Given the description of an element on the screen output the (x, y) to click on. 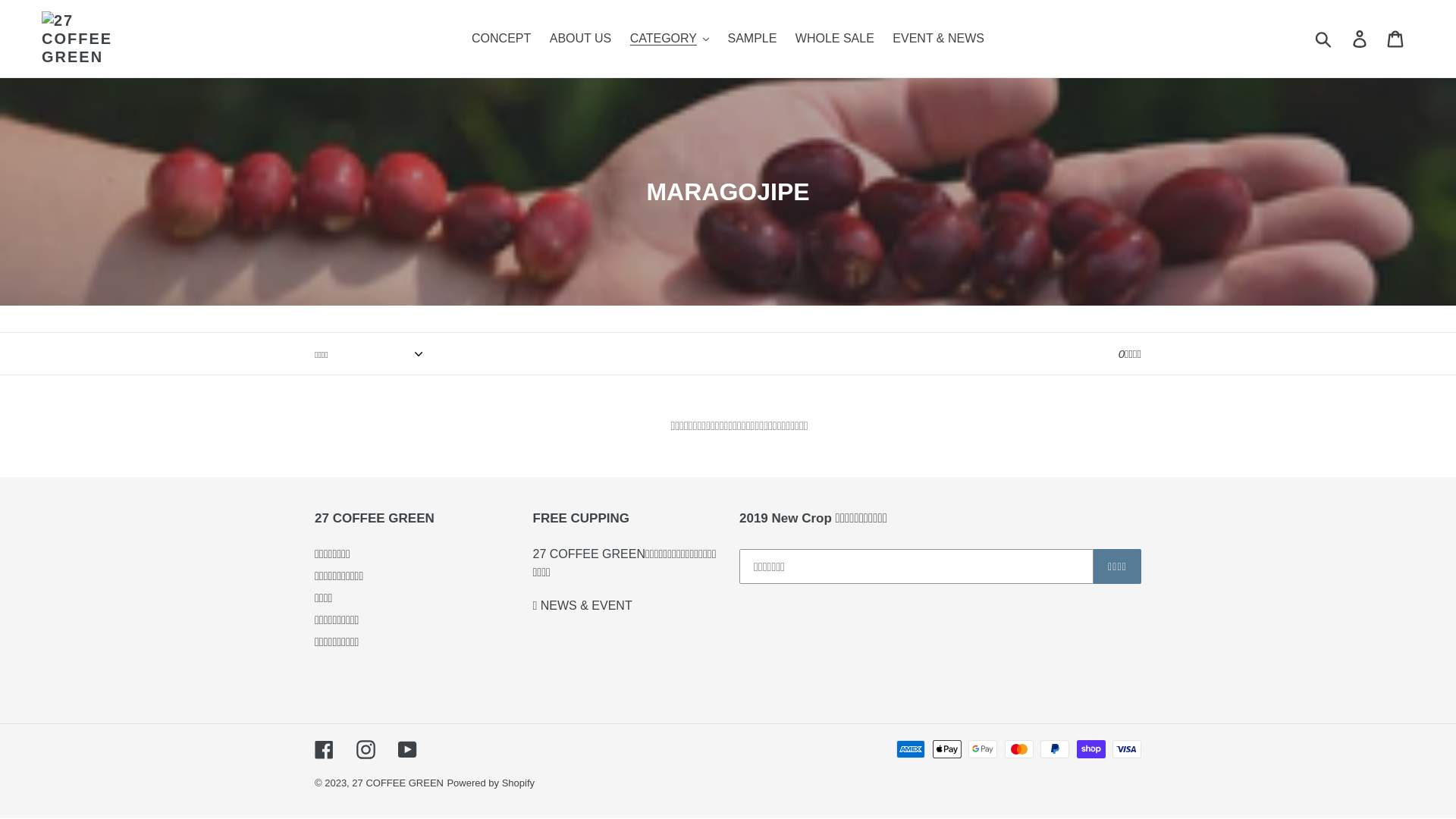
Facebook Element type: text (323, 749)
Instagram Element type: text (365, 749)
CONCEPT Element type: text (501, 38)
WHOLE SALE Element type: text (834, 38)
27 COFFEE GREEN Element type: text (397, 782)
SAMPLE Element type: text (751, 38)
ABOUT US Element type: text (580, 38)
YouTube Element type: text (407, 749)
EVENT & NEWS Element type: text (937, 38)
